Given the description of an element on the screen output the (x, y) to click on. 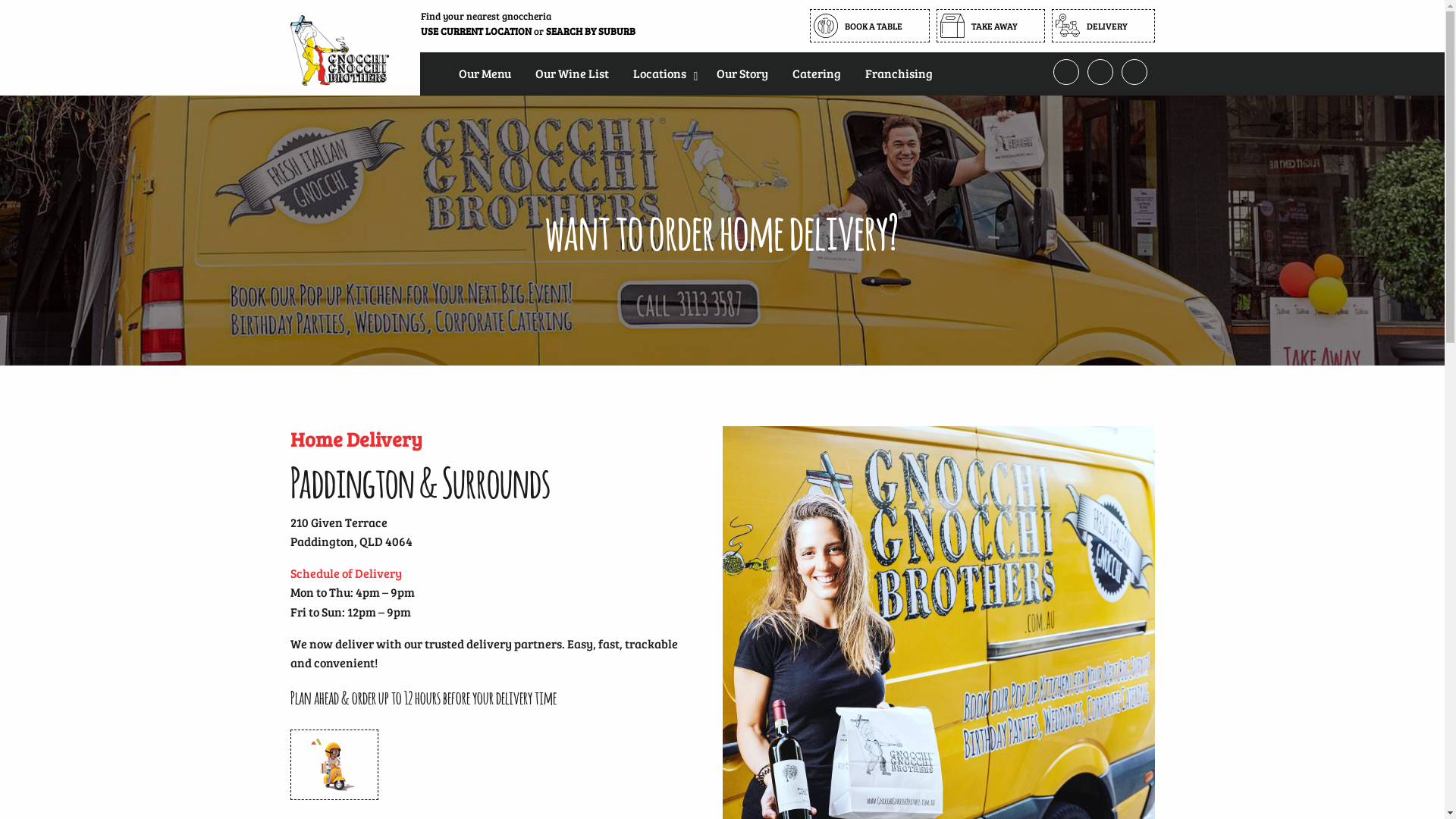
DELIVERY Element type: text (1102, 25)
Locations Element type: text (661, 73)
Franchising Element type: text (898, 73)
Our Wine List Element type: text (572, 73)
Our Menu Element type: text (483, 73)
TAKE AWAY Element type: text (989, 25)
Our Story Element type: text (741, 73)
Catering Element type: text (815, 73)
USE CURRENT LOCATION Element type: text (475, 30)
SEARCH BY SUBURB Element type: text (590, 30)
BOOK A TABLE Element type: text (869, 25)
